Given the description of an element on the screen output the (x, y) to click on. 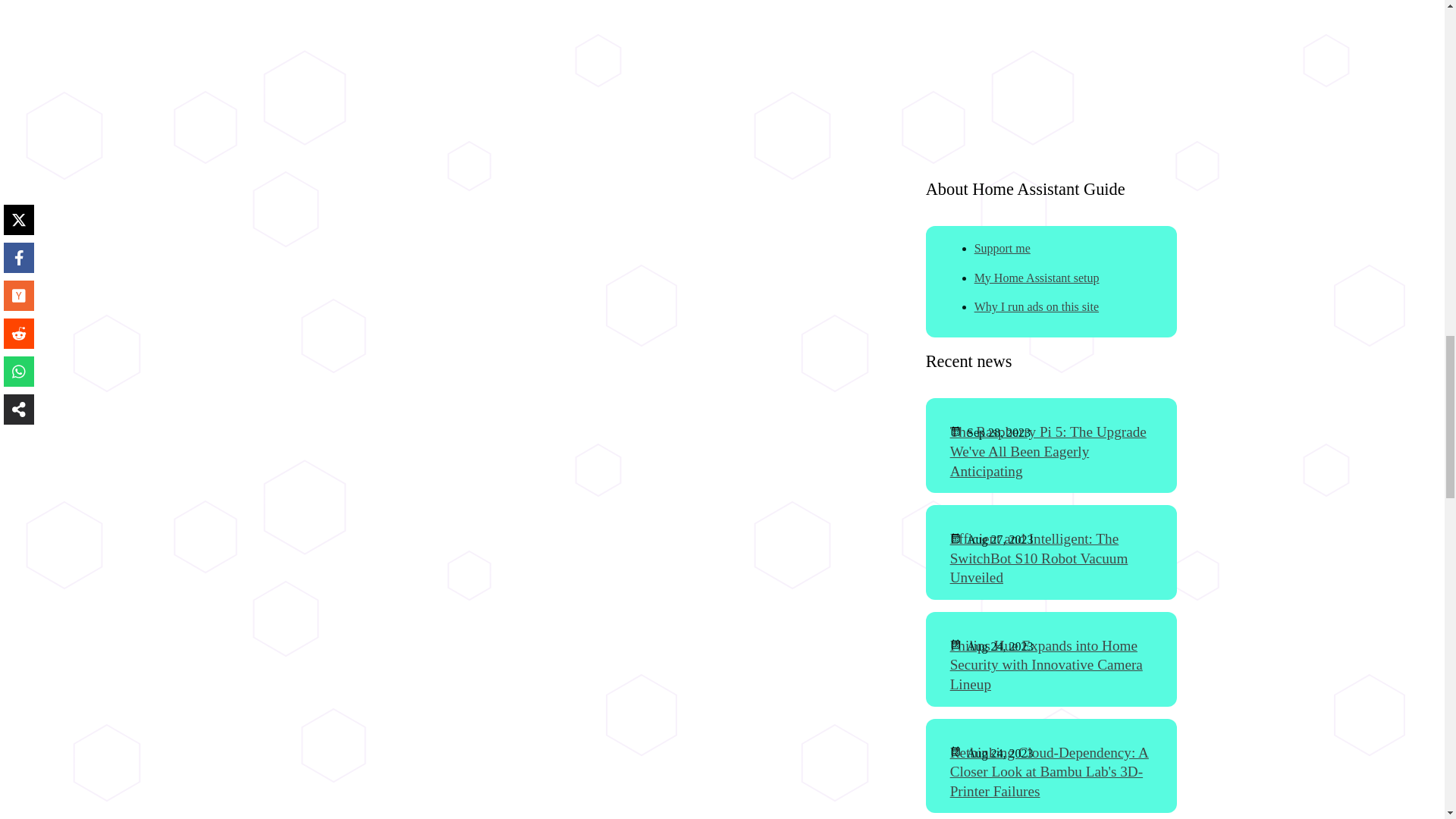
calendar-month-outline (958, 538)
calendar-month-outline (958, 644)
Support me (1002, 247)
calendar-month-outline (958, 751)
calendar-month-outline (958, 431)
